Given the description of an element on the screen output the (x, y) to click on. 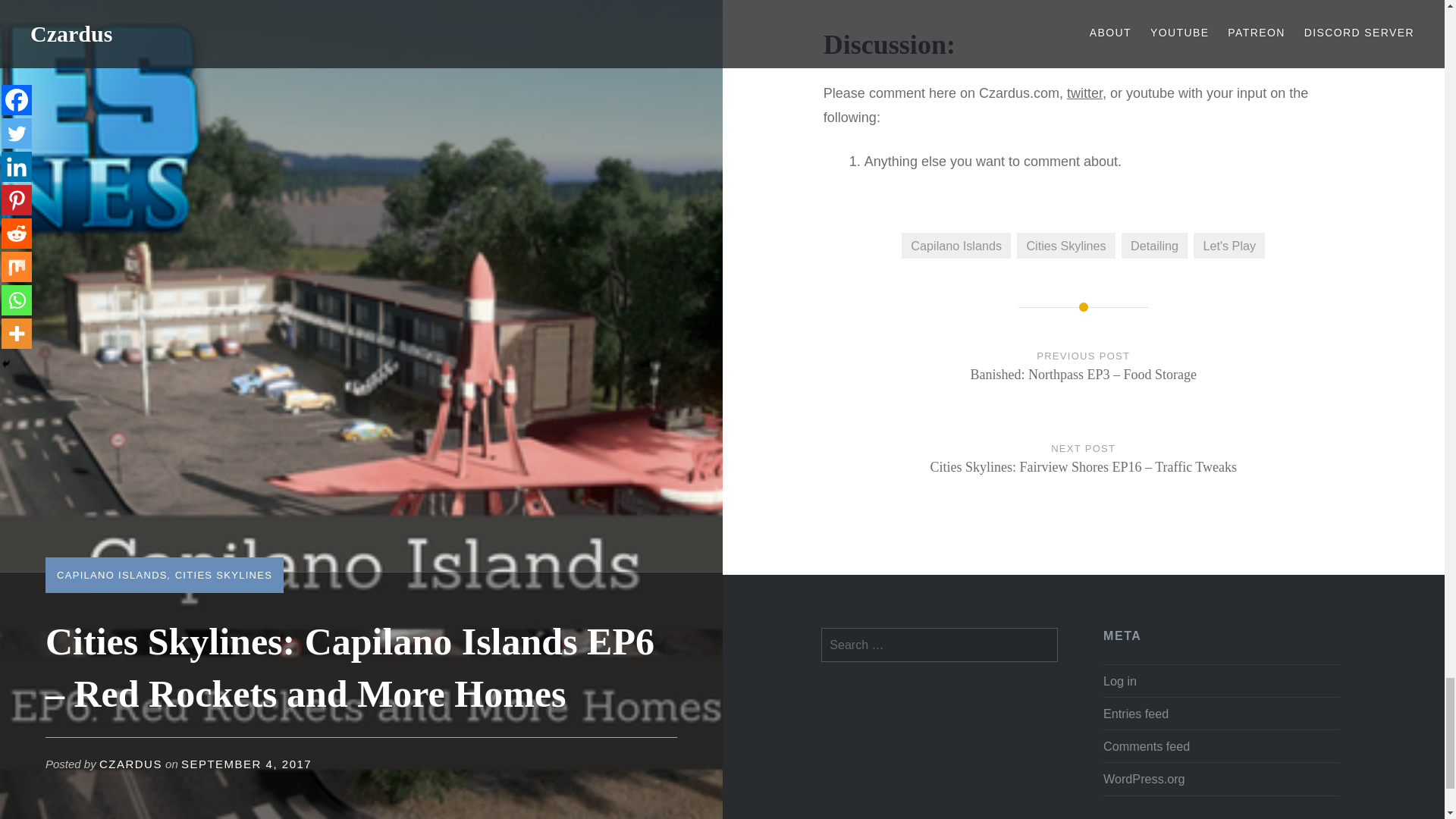
twitter (1084, 92)
